Given the description of an element on the screen output the (x, y) to click on. 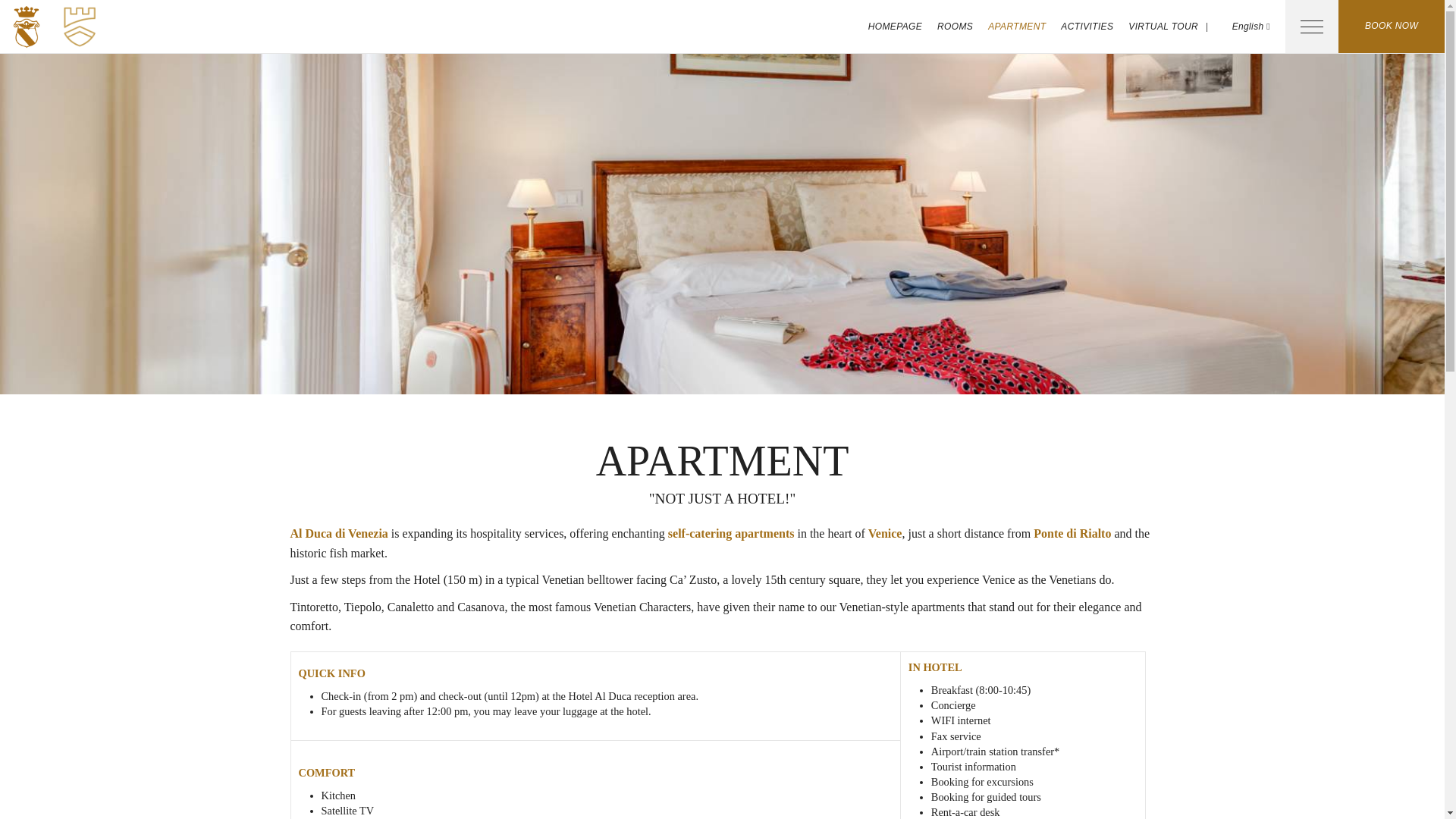
VIRTUAL TOUR (1163, 26)
APARTMENT (1016, 26)
HOMEPAGE (894, 26)
ACTIVITIES (1087, 26)
English (1245, 26)
ROOMS (954, 26)
